Given the description of an element on the screen output the (x, y) to click on. 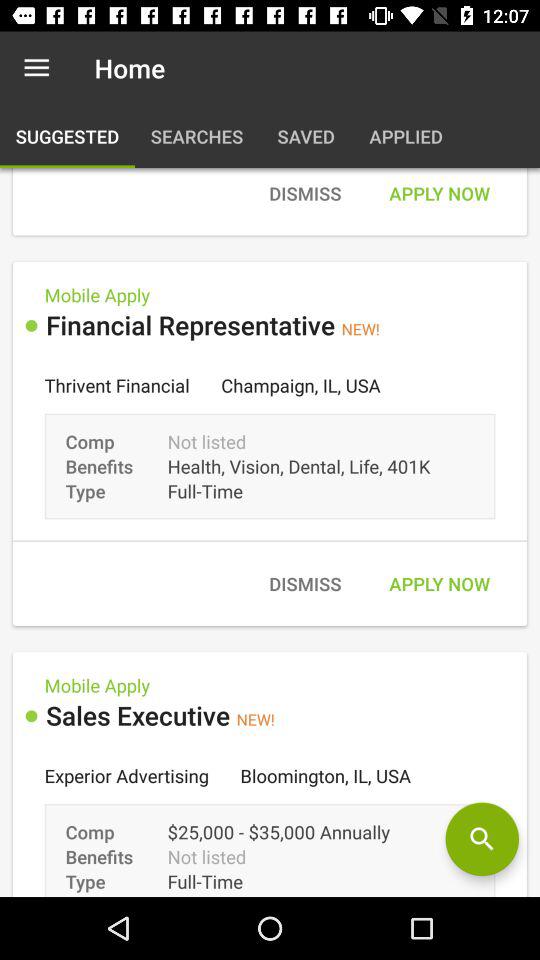
toggle search option (482, 839)
